Given the description of an element on the screen output the (x, y) to click on. 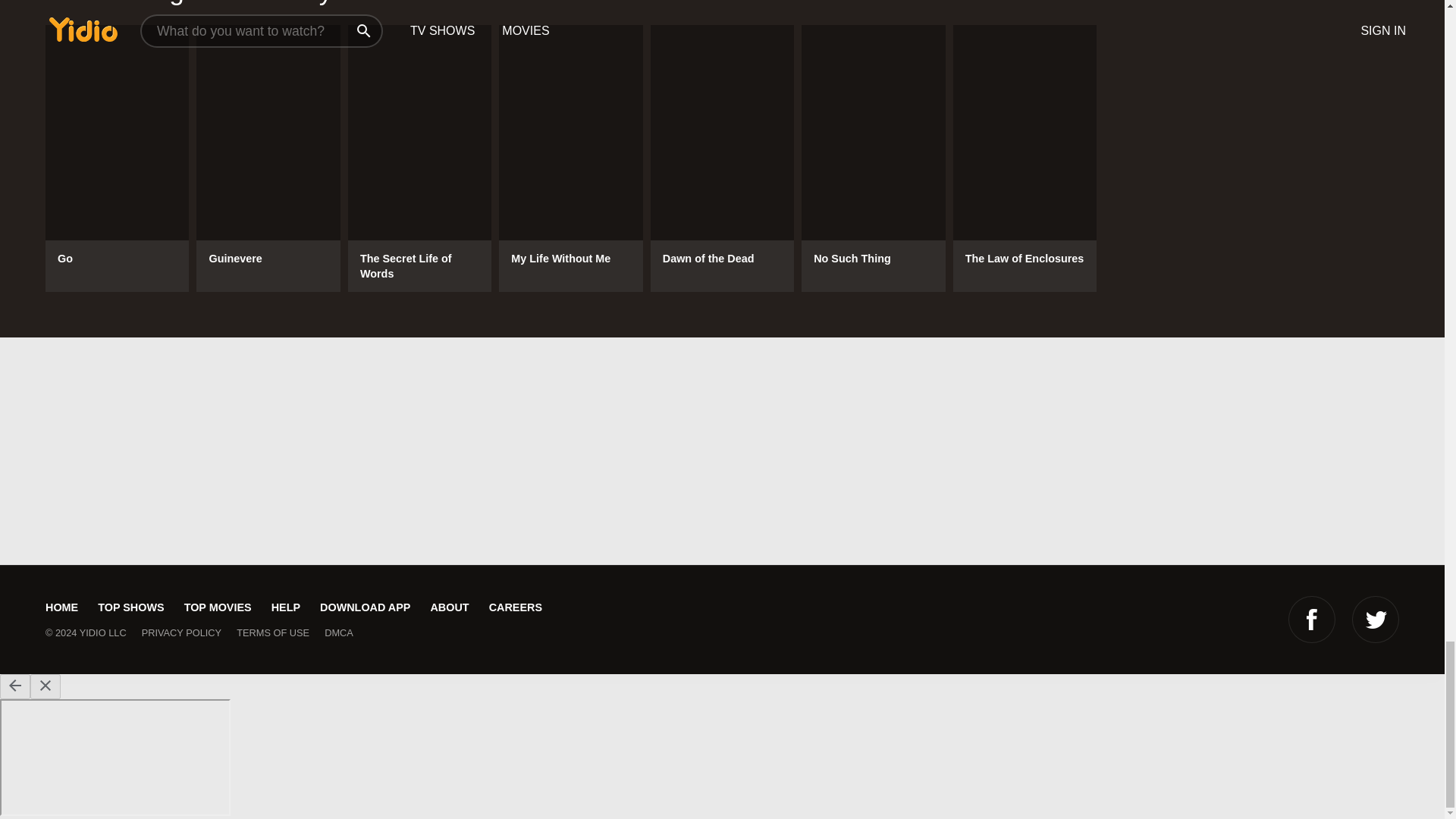
Twitter (1375, 619)
Facebook (1311, 619)
